Given the description of an element on the screen output the (x, y) to click on. 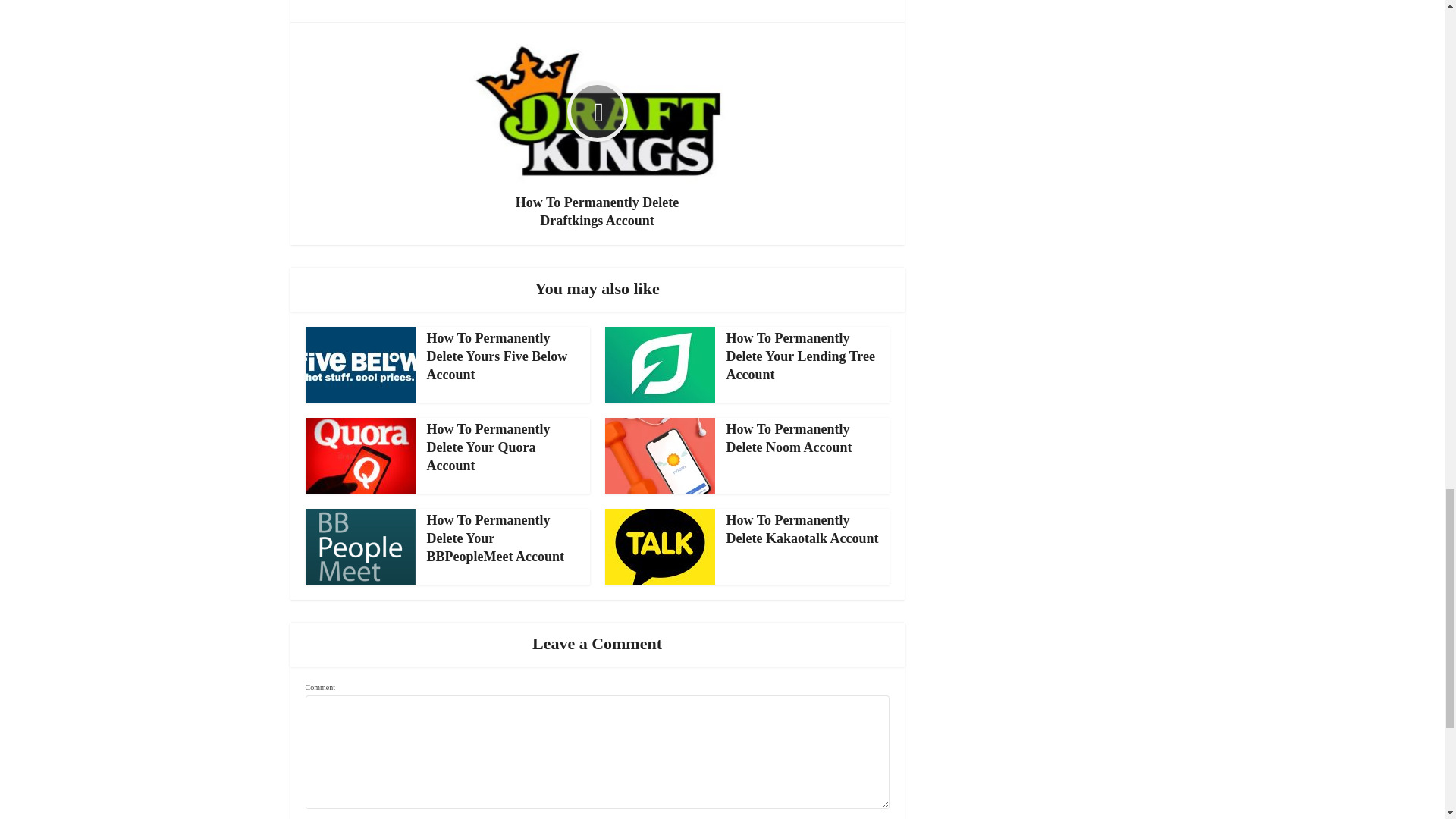
How To Permanently Delete Your BBPeopleMeet Account (494, 538)
How To Permanently Delete Noom Account (788, 438)
How To Permanently Delete Yours Five Below Account (496, 356)
How To Permanently Delete Your Lending Tree Account (801, 356)
How To Permanently Delete Your Quora Account (488, 447)
How To Permanently Delete Yours Five Below Account (496, 356)
How To Permanently Delete Noom Account (788, 438)
How To Permanently Delete Your Lending Tree Account (801, 356)
How To Permanently Delete Draftkings Account (596, 133)
How To Permanently Delete Your Quora Account (488, 447)
